Given the description of an element on the screen output the (x, y) to click on. 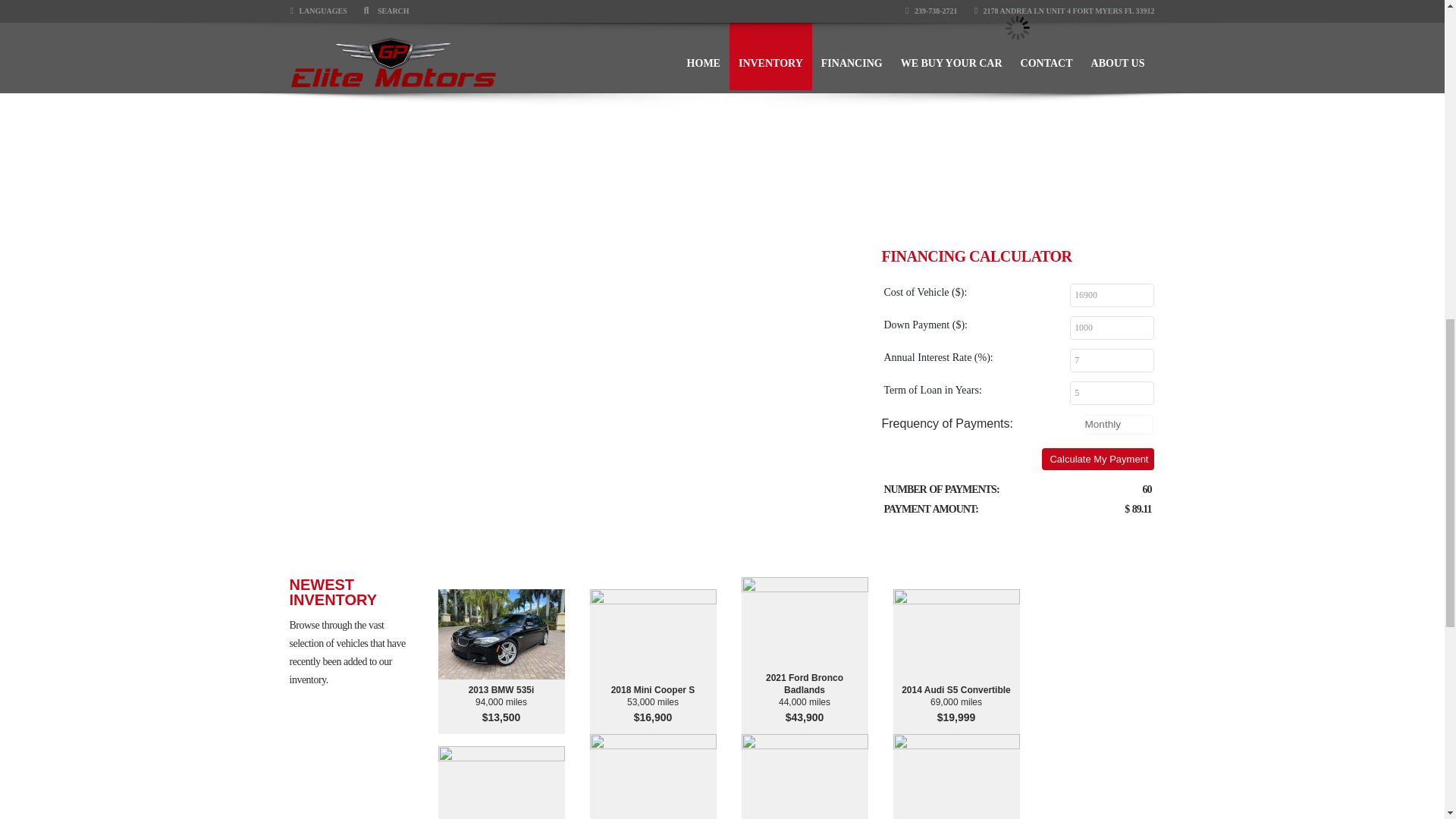
2013 BMW 535i (500, 689)
5 (1112, 392)
69,000 miles (955, 702)
16900 (1112, 295)
2014 Audi S5 Convertible (955, 689)
2018 Mini Cooper S (651, 689)
94,000 miles (500, 702)
NEWEST INVENTORY (358, 592)
53,000 miles (651, 702)
44,000 miles (803, 702)
1000 (1112, 327)
2021 Ford Bronco Badlands (803, 683)
7 (1112, 360)
